Given the description of an element on the screen output the (x, y) to click on. 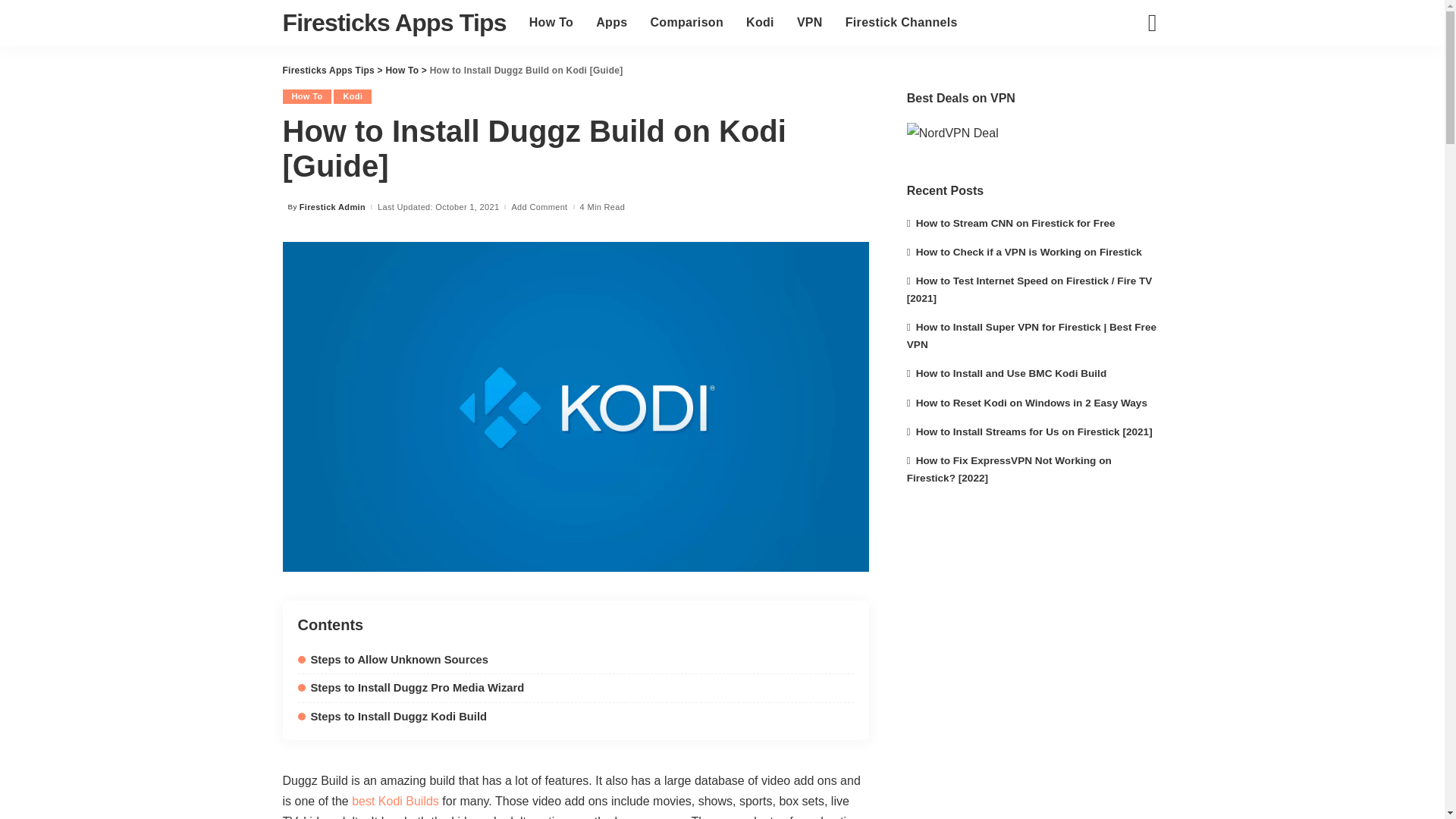
Add Comment (539, 207)
How To (306, 96)
Firesticks Apps Tips (328, 70)
Go to Firesticks Apps Tips. (328, 70)
Steps to Allow Unknown Sources (392, 659)
Kodi (760, 22)
best Kodi Builds (395, 800)
VPN (810, 22)
Firesticks Apps Tips (393, 22)
Steps to Install Duggz Pro Media Wizard (410, 687)
